Given the description of an element on the screen output the (x, y) to click on. 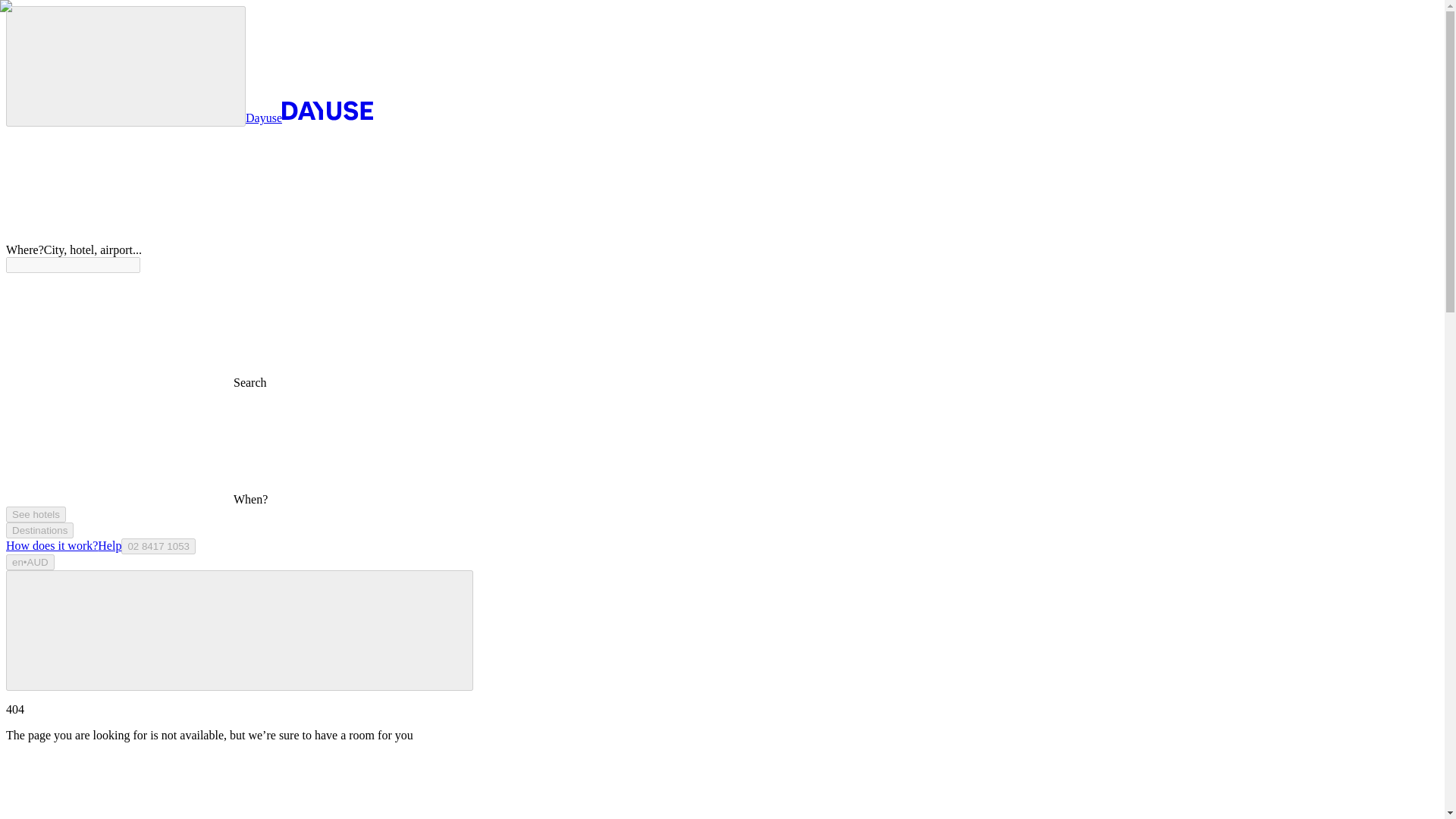
Help (108, 545)
02 8417 1053 (157, 546)
See hotels (35, 514)
Destinations (39, 530)
Dayuse (309, 117)
How does it work? (51, 545)
